Given the description of an element on the screen output the (x, y) to click on. 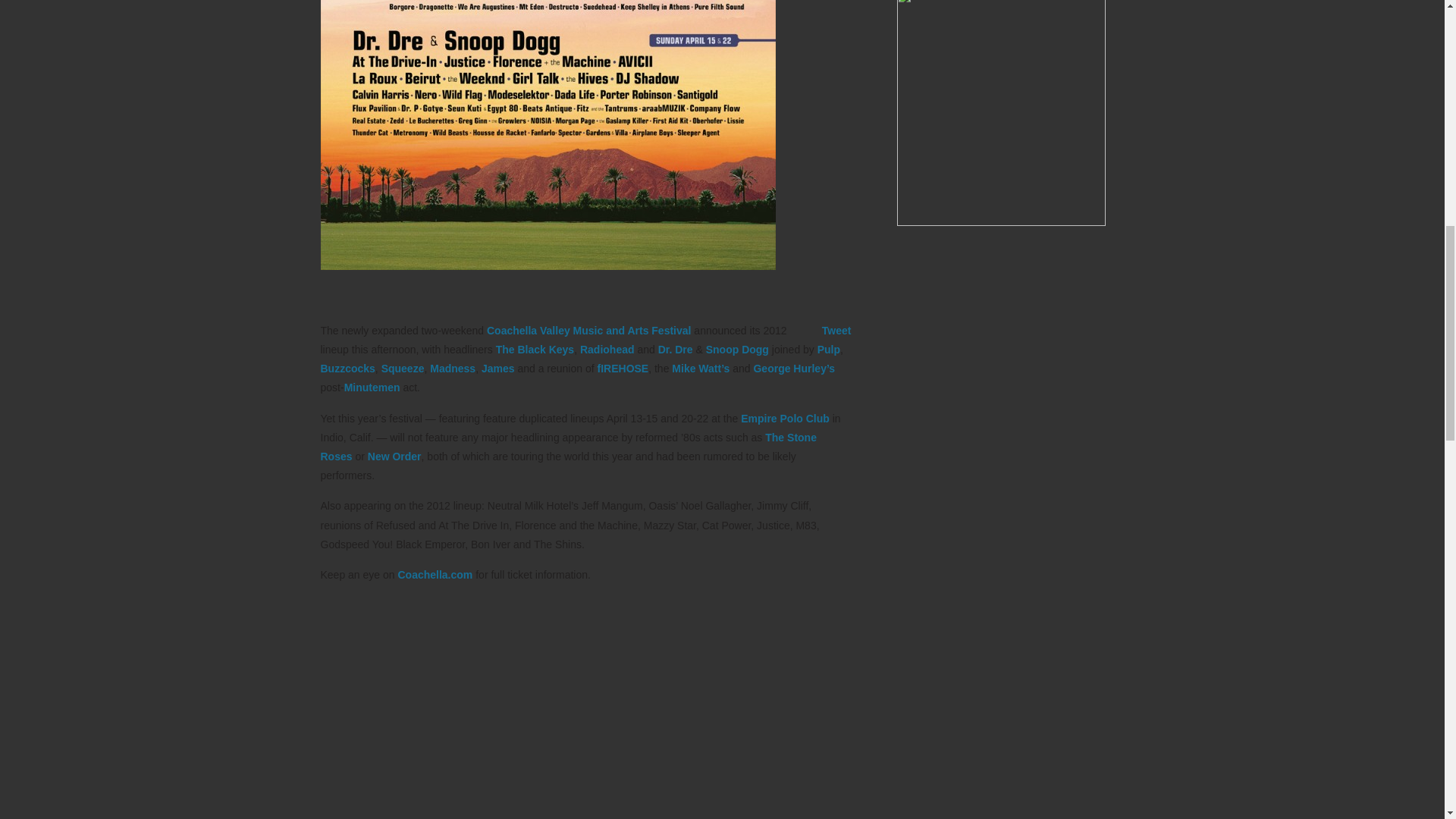
Wikipedia: fIREHOSE (622, 368)
Madness (452, 368)
Wikipedia: George Hurley (793, 368)
New Order (395, 456)
Tweet (836, 330)
Coachella 2012 (547, 135)
Squeeze (403, 368)
Mike Watt (700, 368)
Coachella.com (434, 574)
fIREHOSE (622, 368)
Dr. Dre (675, 349)
Minutemen (371, 387)
Snoop Dogg (737, 349)
Madness (452, 368)
The Black Keys (535, 349)
